Given the description of an element on the screen output the (x, y) to click on. 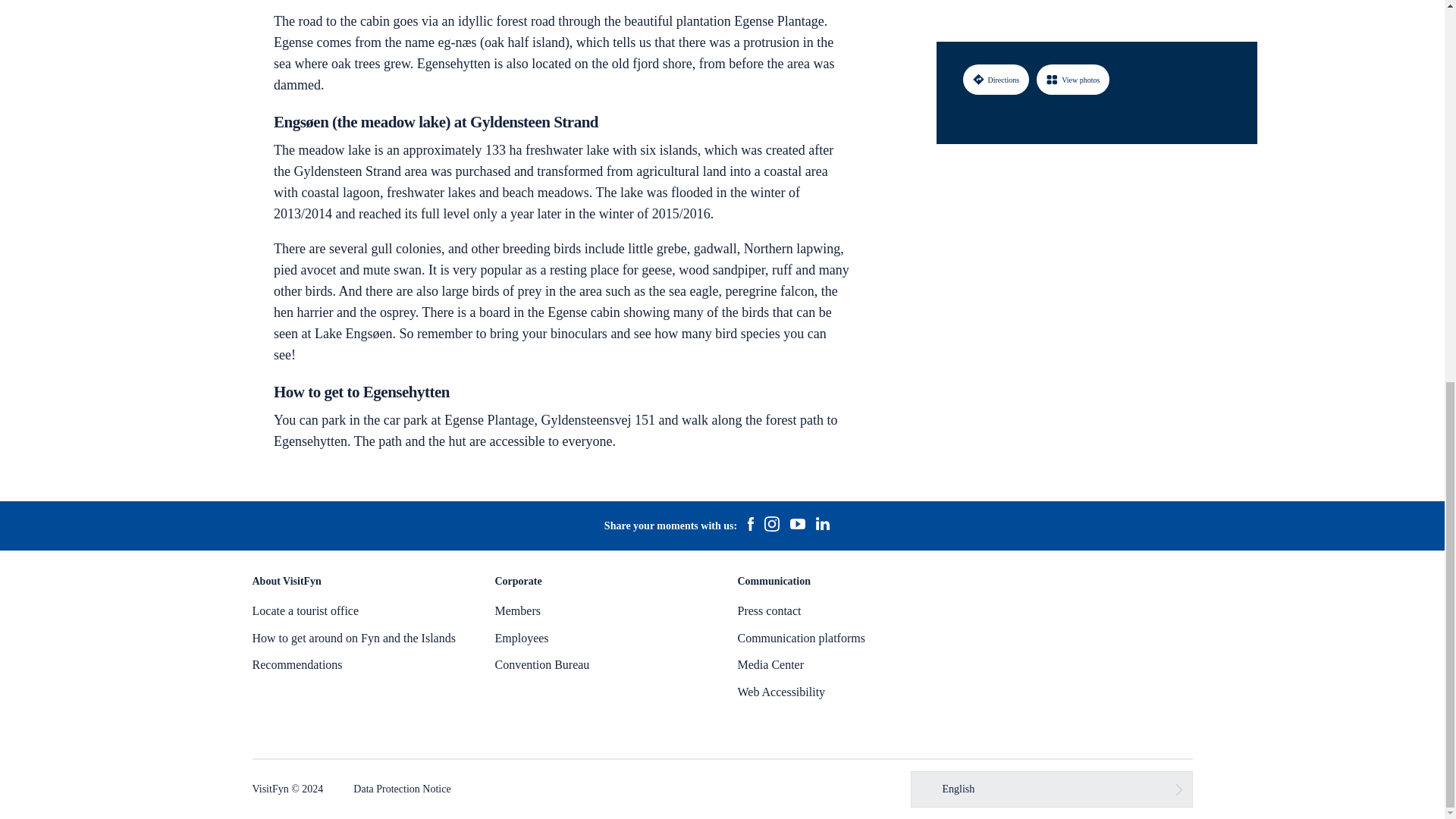
Communication platforms (800, 637)
Employees (521, 637)
Recommendations (296, 664)
facebook (750, 525)
Web Accessibility (780, 691)
Employees (521, 637)
youtube (797, 525)
Convention Bureau (542, 664)
Convention Bureau (542, 664)
Members (517, 610)
